Given the description of an element on the screen output the (x, y) to click on. 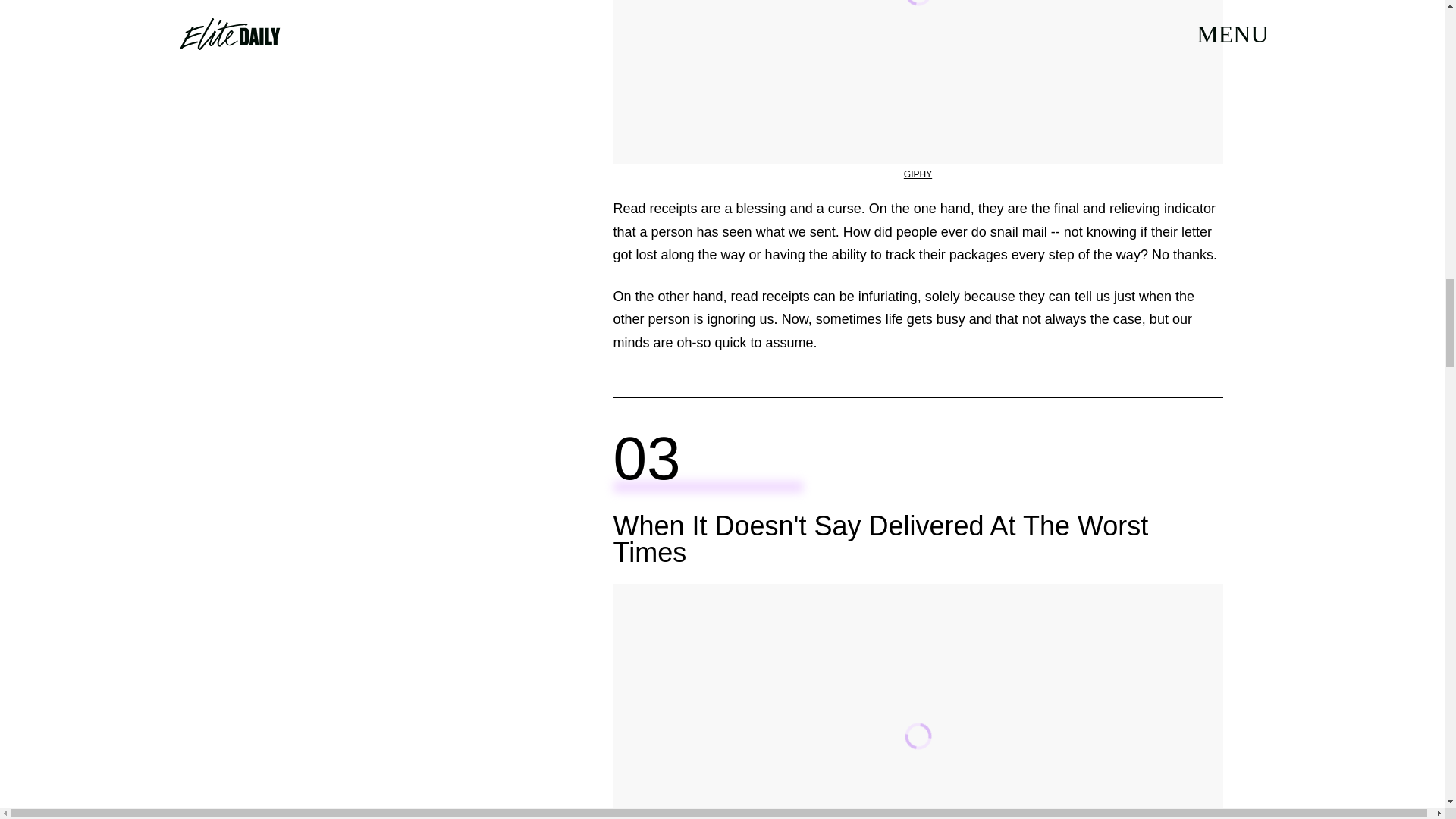
GIPHY (917, 173)
